Given the description of an element on the screen output the (x, y) to click on. 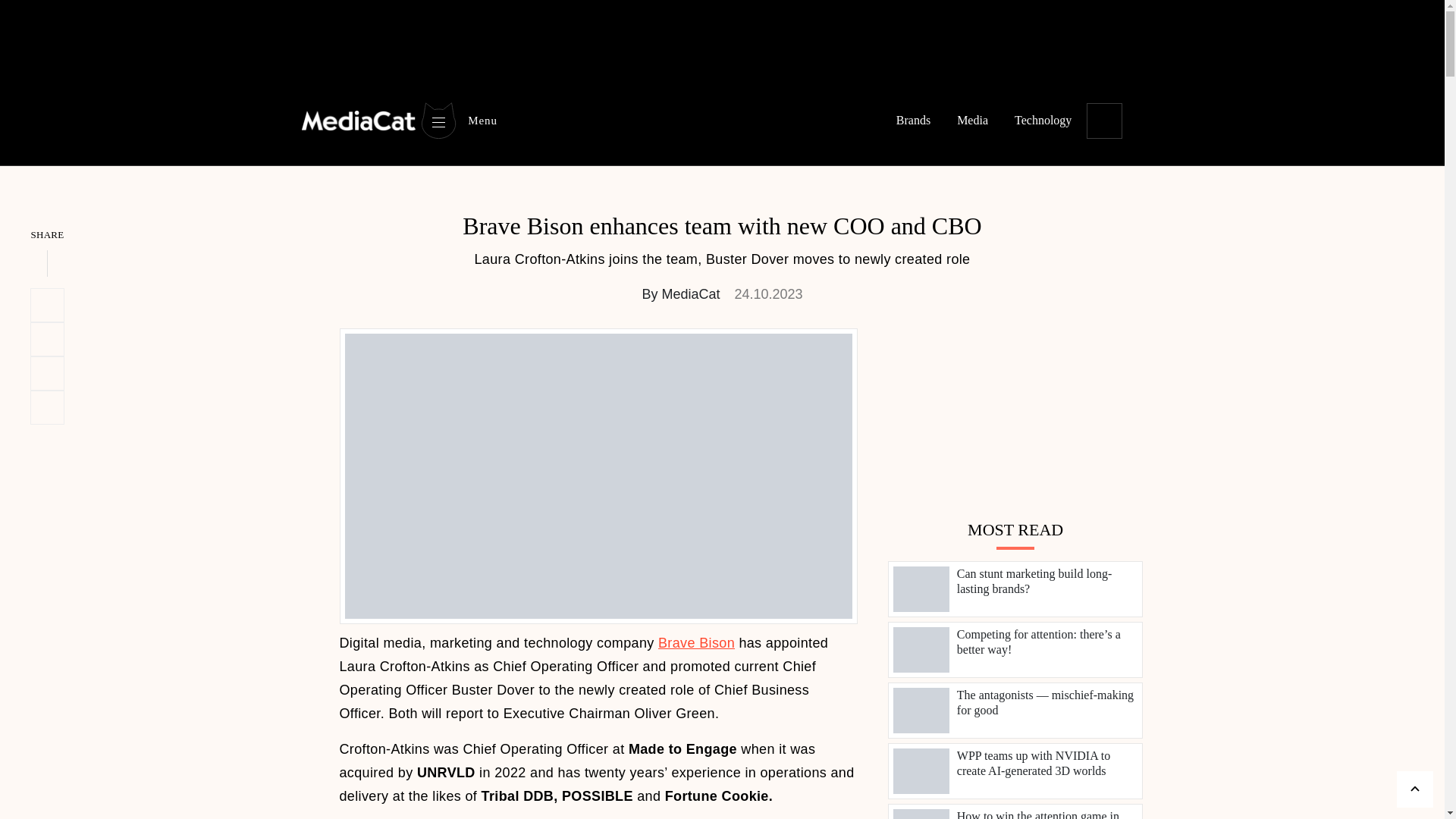
Menu (457, 52)
Share via Email! (47, 407)
Share on LinkedIn! (47, 339)
Tweet this! (47, 305)
Share on Facebook! (47, 373)
